Given the description of an element on the screen output the (x, y) to click on. 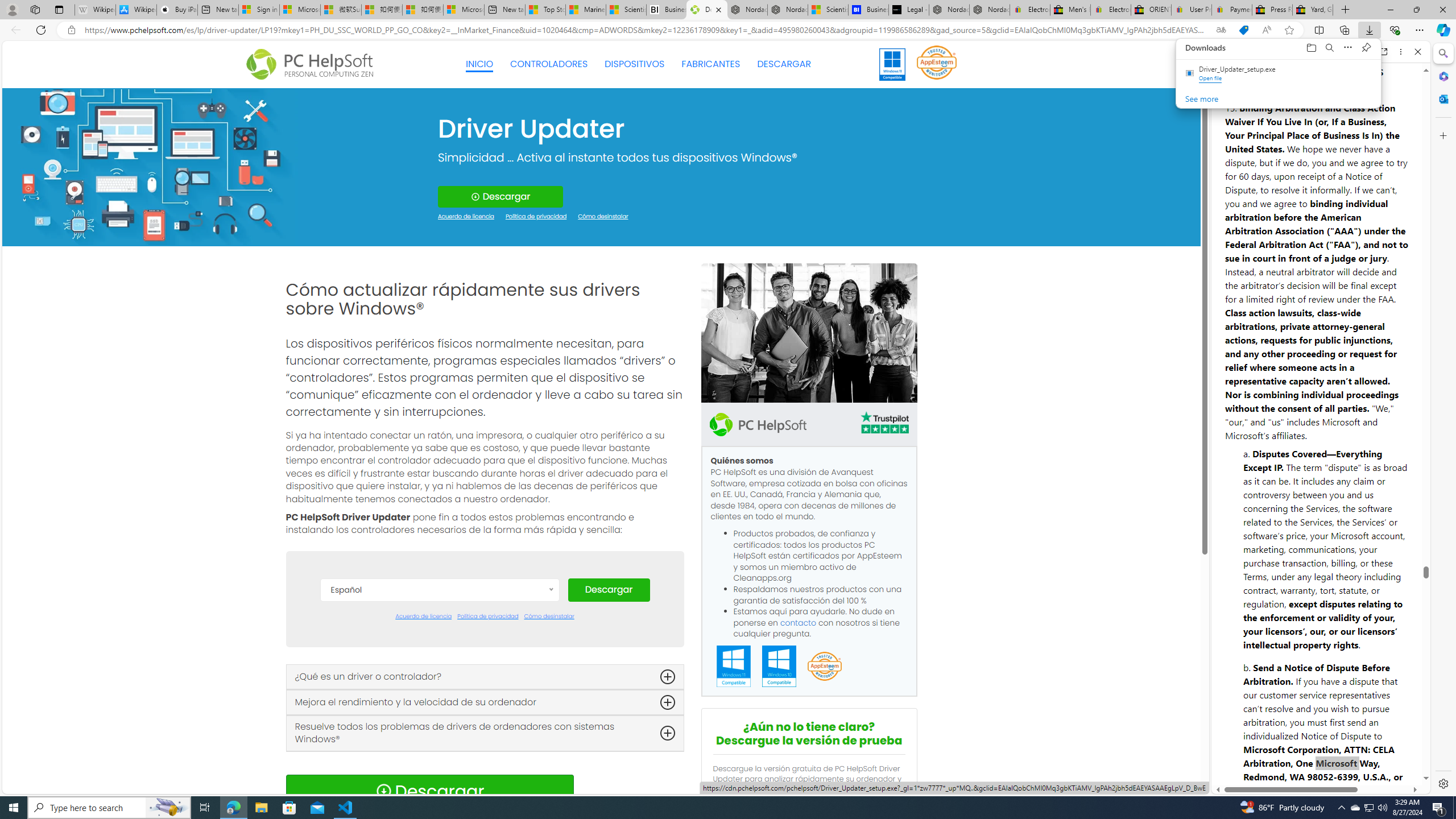
Yard, Garden & Outdoor Living (1312, 9)
Logo Personal Computing (313, 64)
Search downloads (1330, 47)
Buy iPad - Apple (176, 9)
Logo Personal Computing (313, 64)
